Given the description of an element on the screen output the (x, y) to click on. 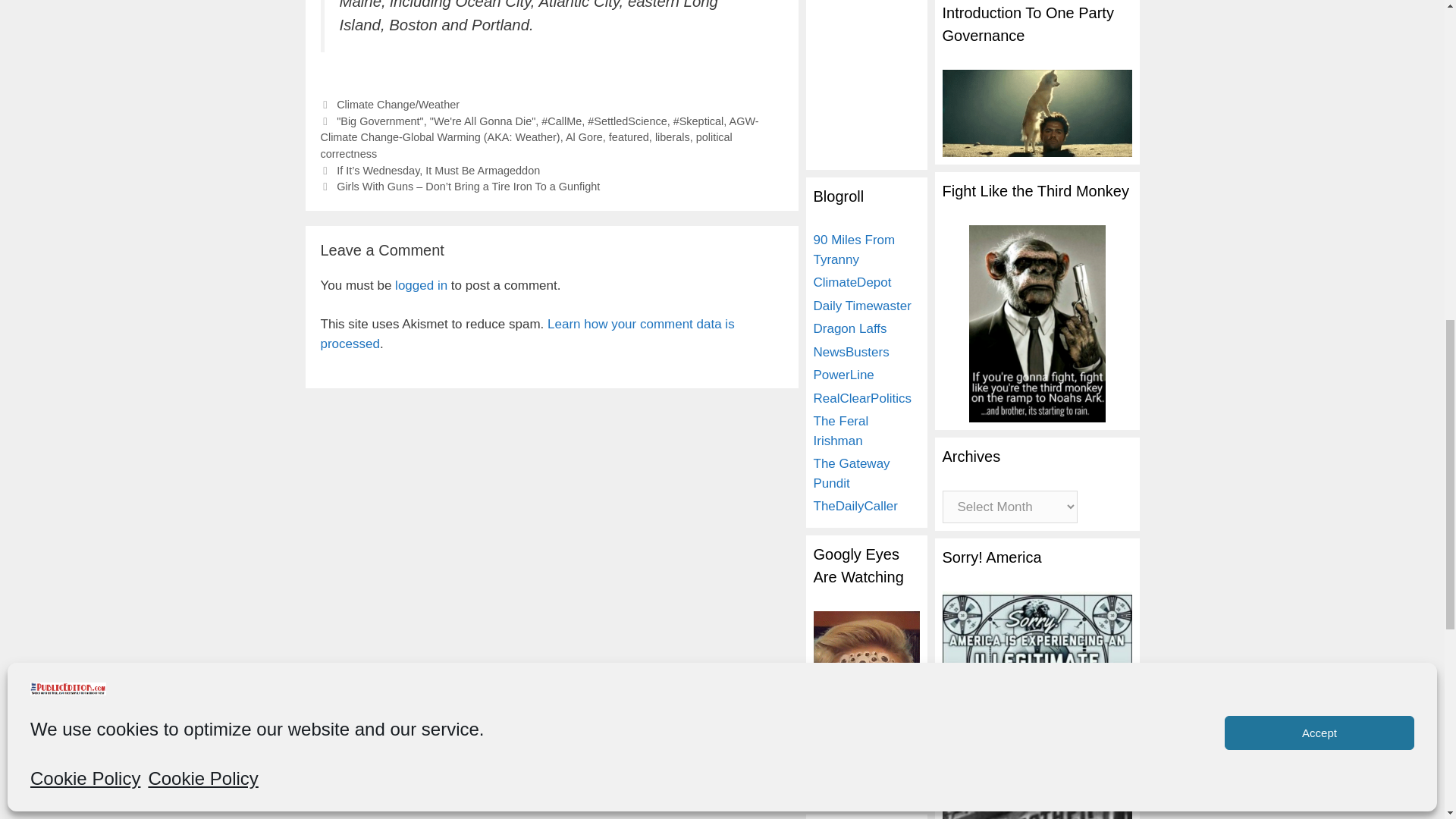
Getting Through the Day, one Laff at a time (849, 328)
